Given the description of an element on the screen output the (x, y) to click on. 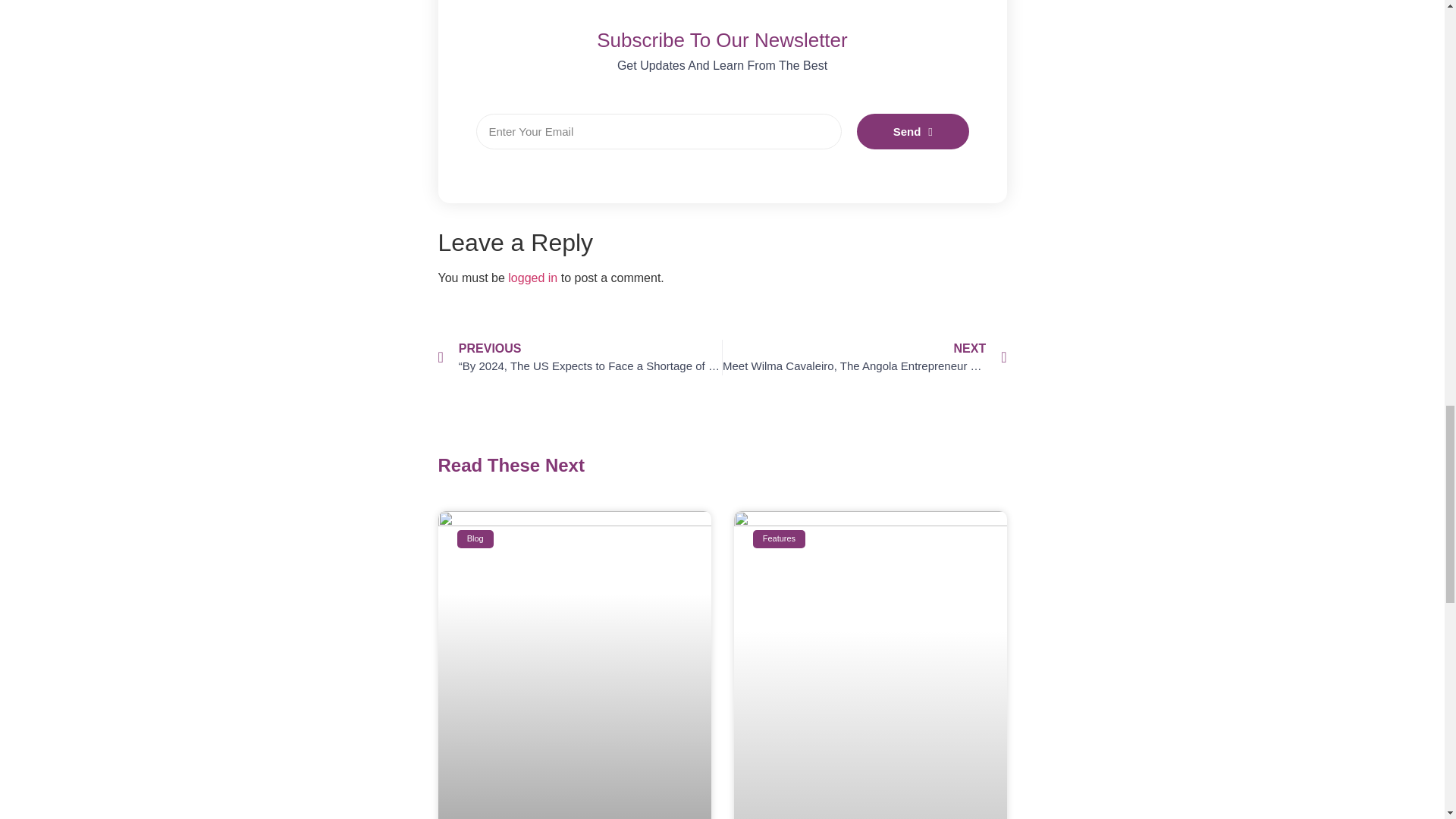
Send (913, 131)
logged in (532, 277)
